Given the description of an element on the screen output the (x, y) to click on. 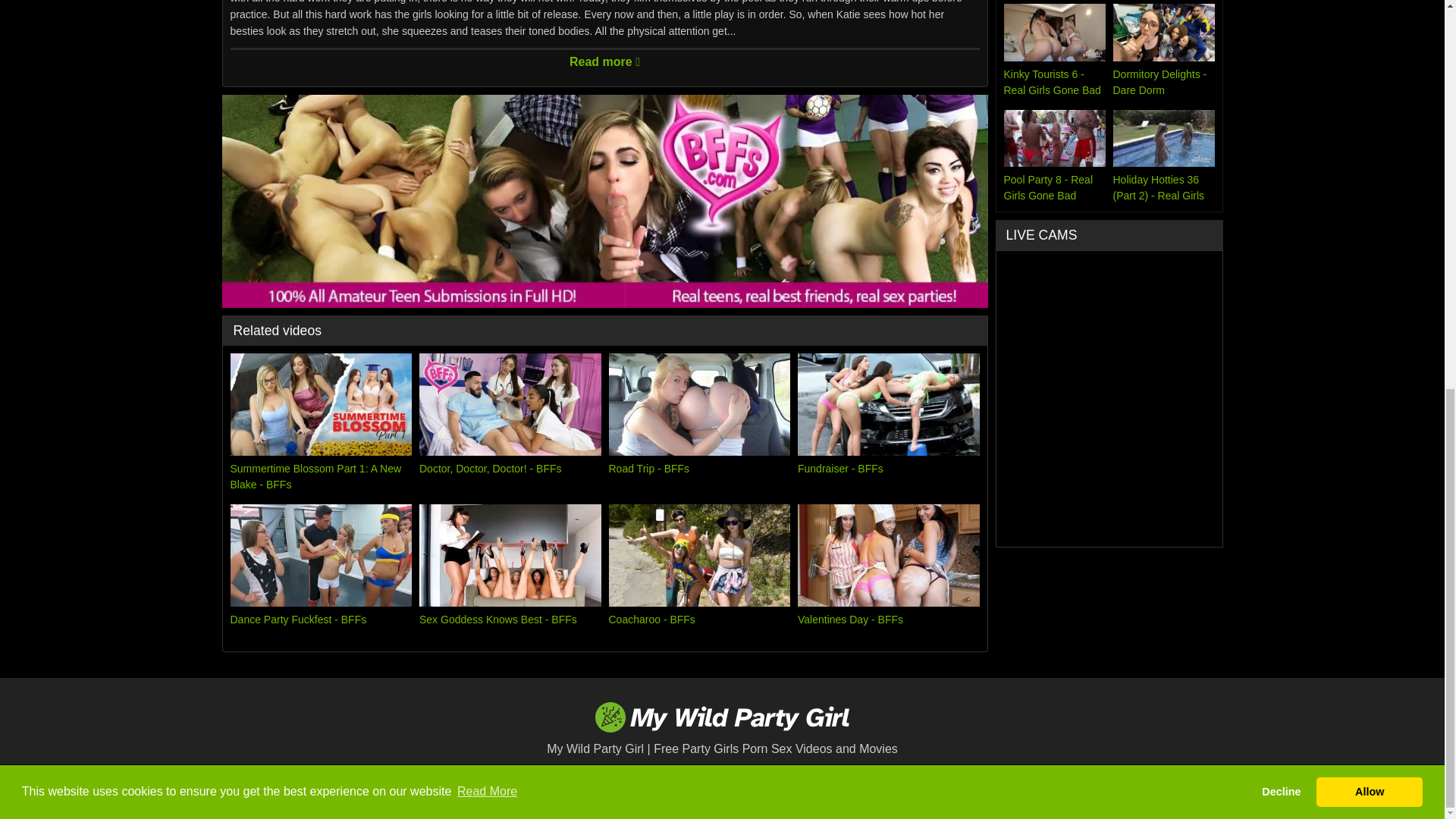
Read more (604, 58)
Summertime Blossom Part 1: A New Blake - BFFs (321, 422)
